Given the description of an element on the screen output the (x, y) to click on. 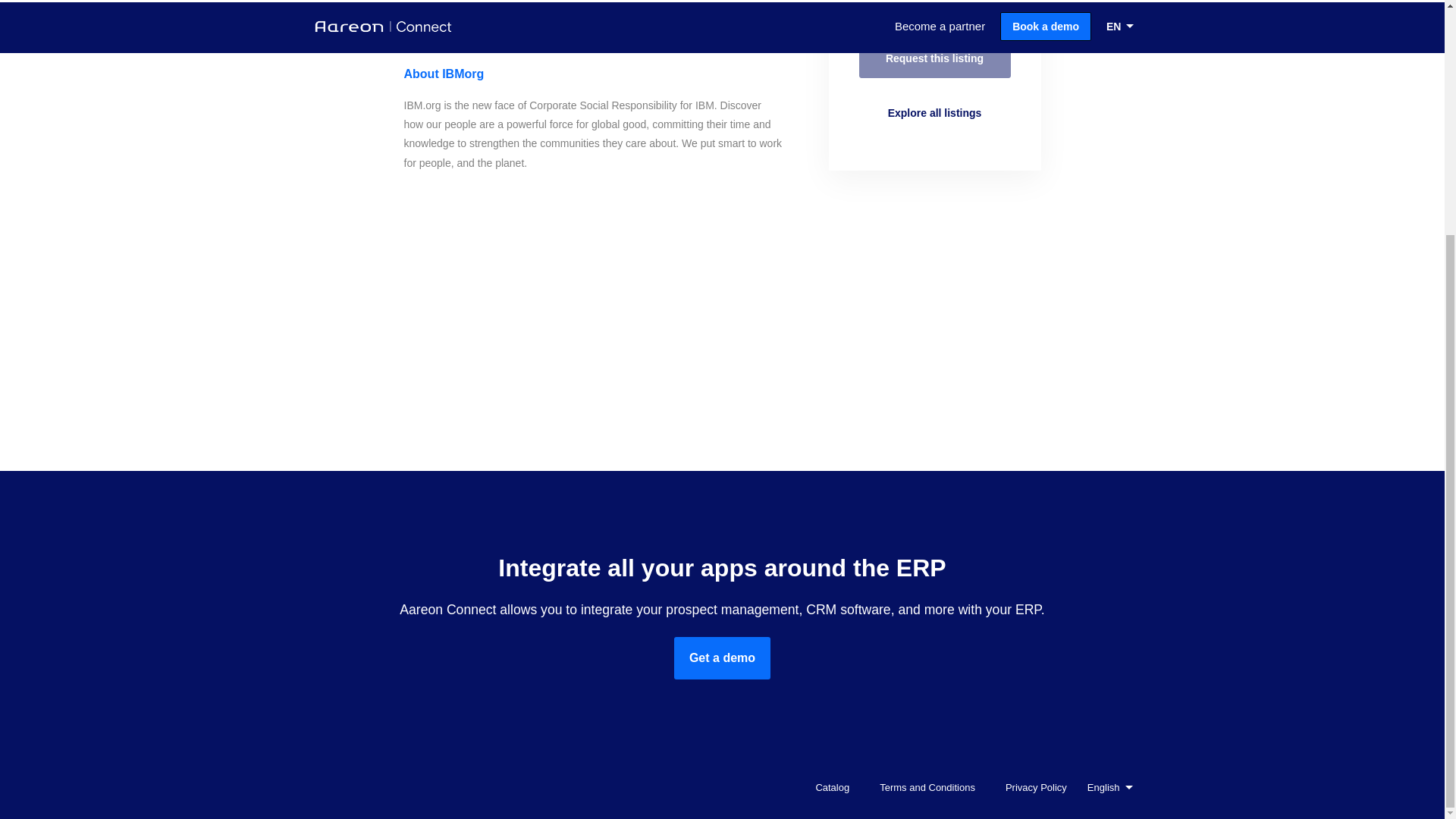
Catalog (828, 786)
Get a demo (722, 658)
Terms and Conditions (922, 786)
Request this listing (934, 57)
Explore all listings (934, 112)
Privacy Policy (1032, 786)
